Given the description of an element on the screen output the (x, y) to click on. 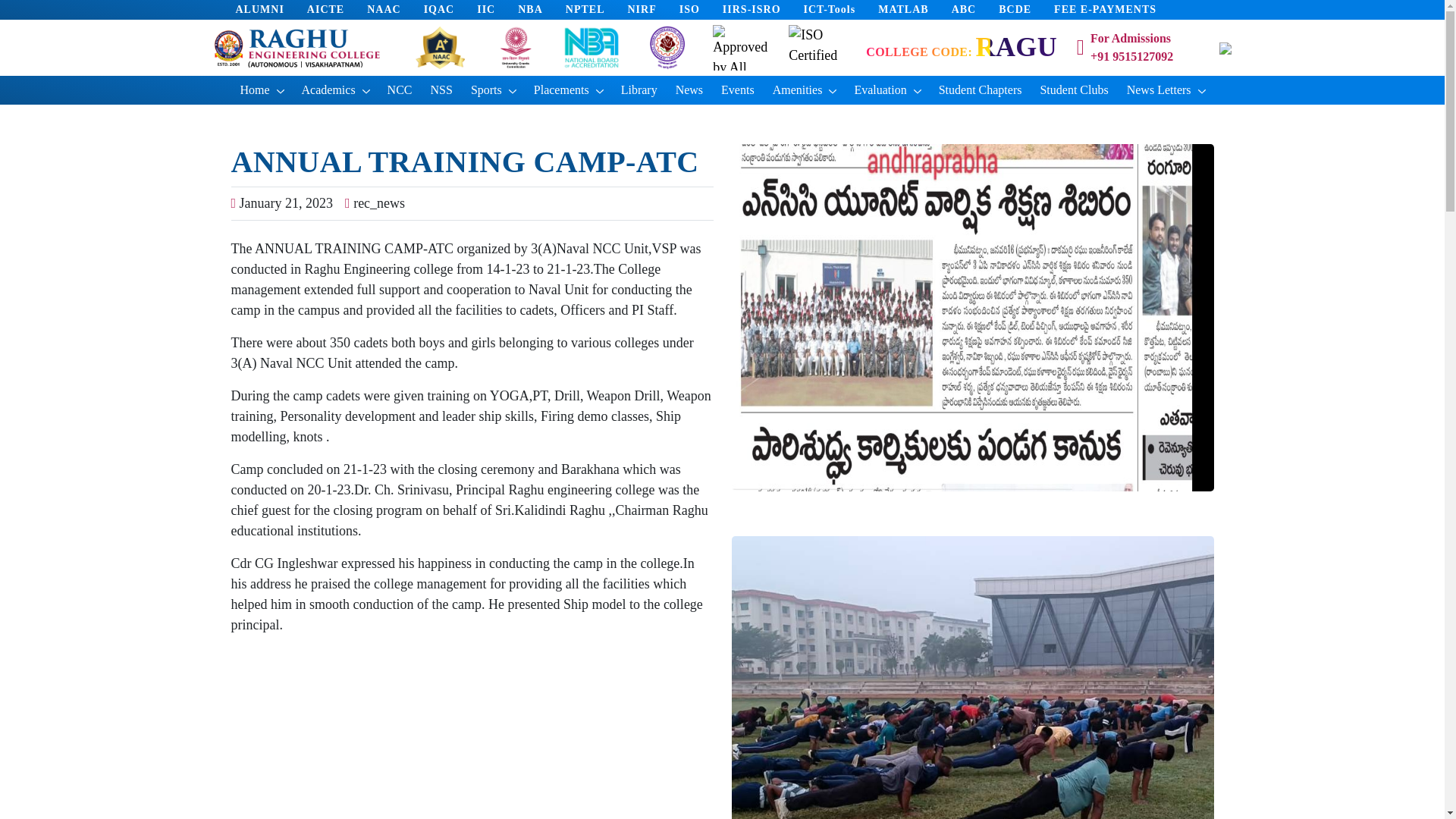
NIRF (641, 9)
FEE E-PAYMENTS (1105, 9)
Academics (335, 90)
ISO (689, 9)
AICTE (325, 9)
BCDE (1014, 9)
NBA (530, 9)
NAAC (383, 9)
IIC (486, 9)
IIRS-ISRO (751, 9)
